Given the description of an element on the screen output the (x, y) to click on. 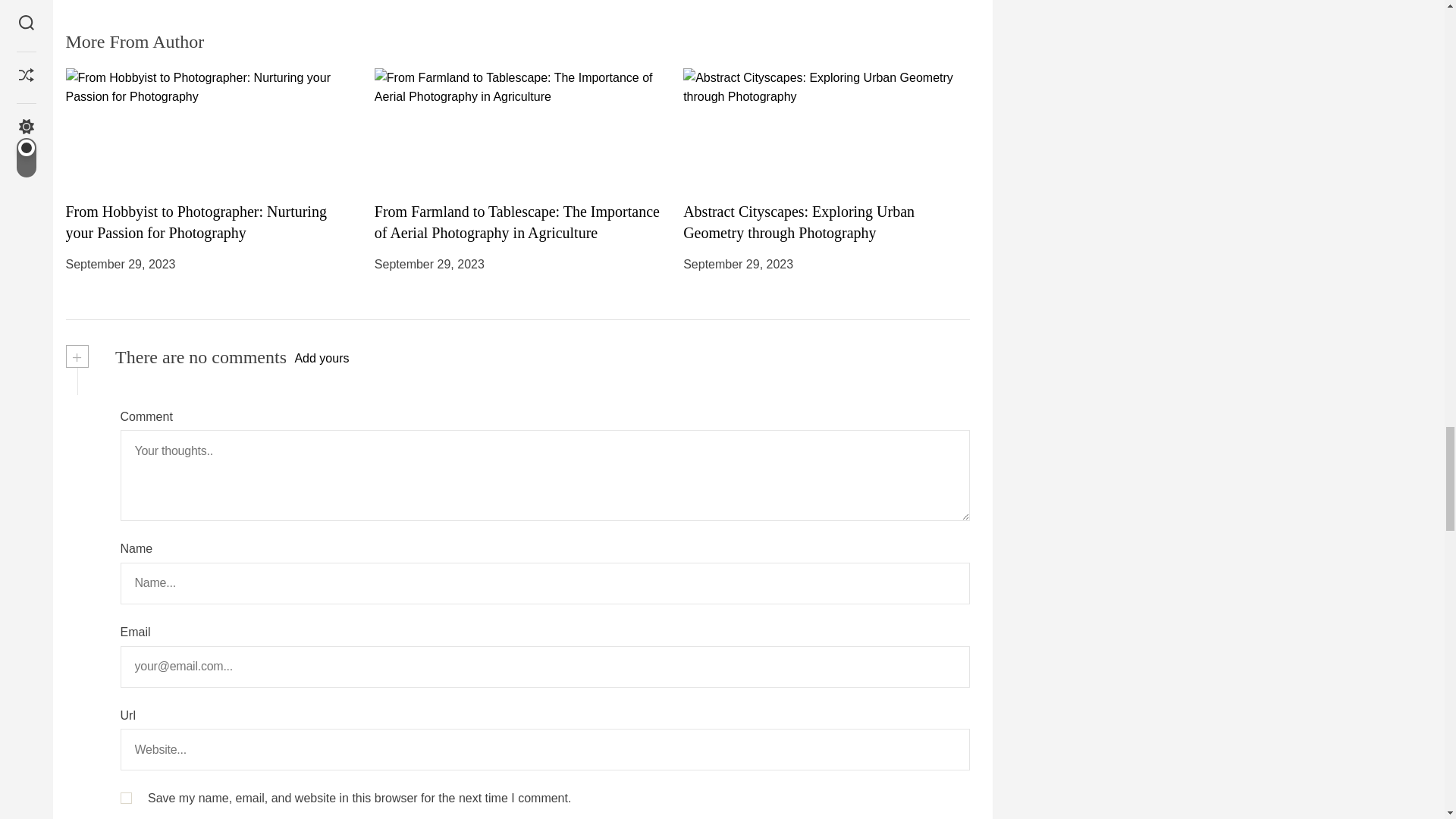
yes (125, 797)
